Given the description of an element on the screen output the (x, y) to click on. 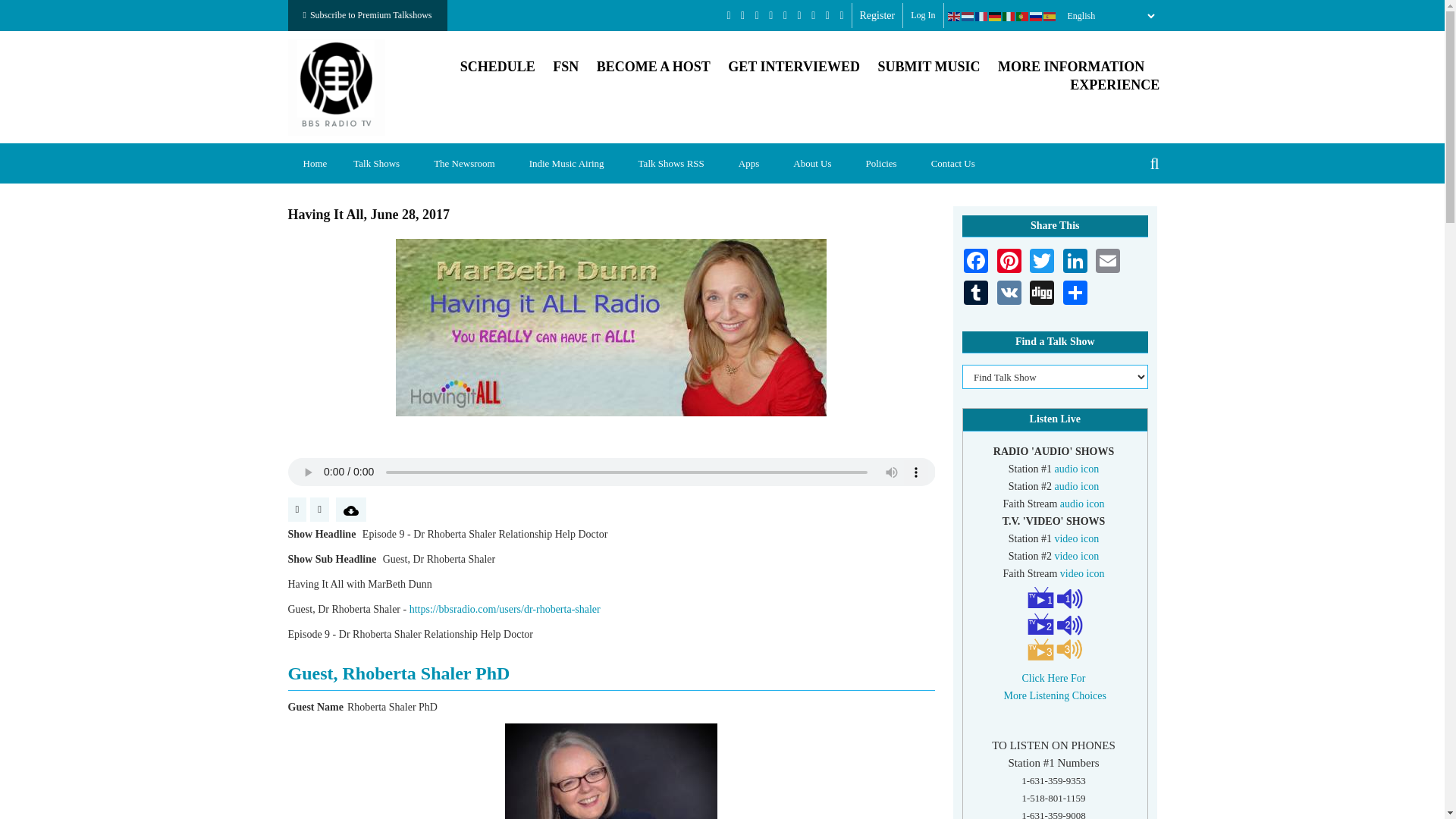
Log In (922, 14)
Register (877, 15)
BECOME A HOST (653, 66)
Nederlands (967, 15)
Home (315, 163)
SCHEDULE (497, 66)
Italiano (1009, 15)
The Experience of Live Talk Shows Done Right! (1114, 84)
MORE INFORMATION (1070, 66)
